Given the description of an element on the screen output the (x, y) to click on. 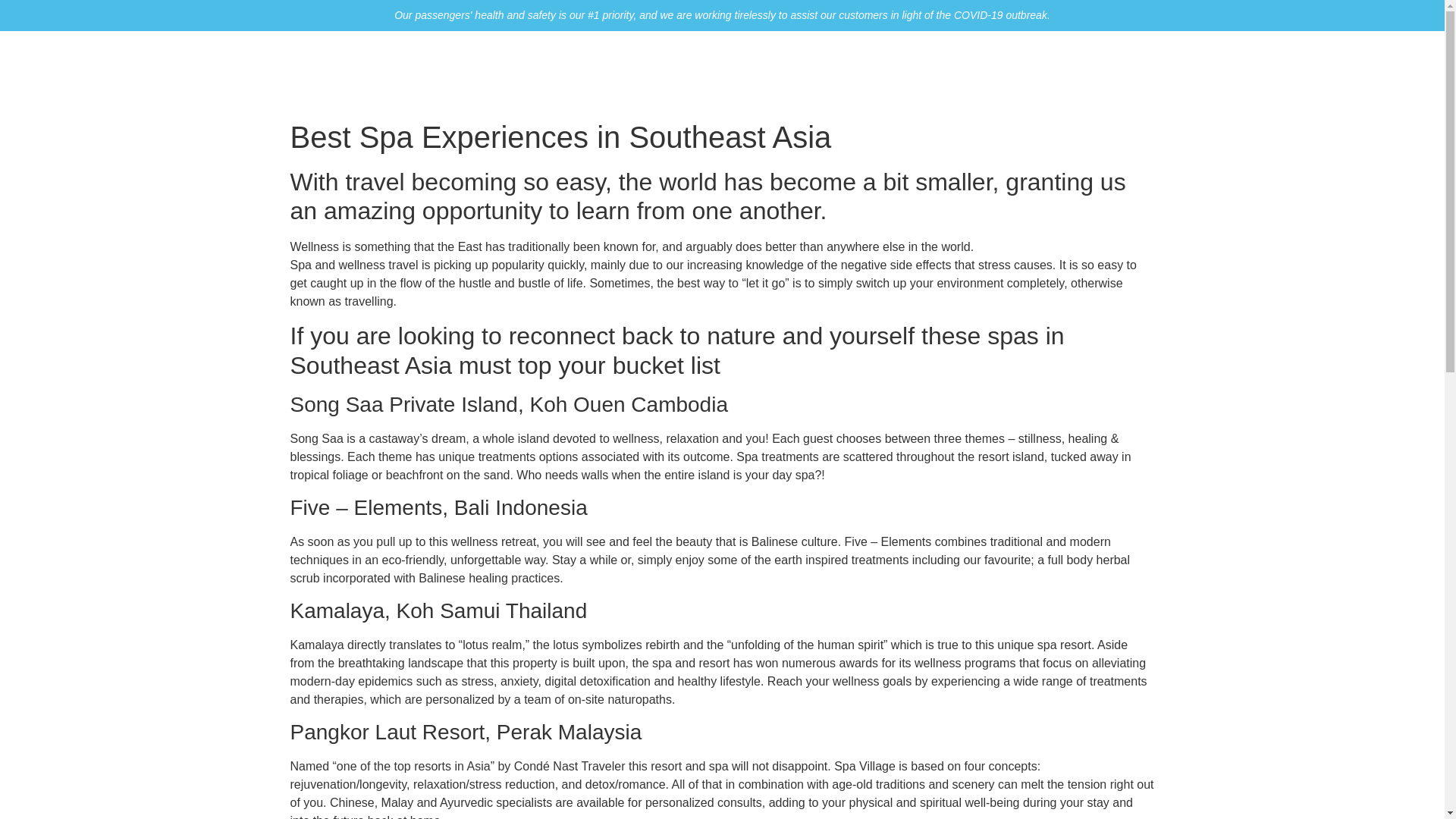
Travel Styles (908, 71)
Blogs (1037, 71)
About Me (822, 71)
Home (756, 71)
Contact (1096, 71)
Offers (983, 71)
